Given the description of an element on the screen output the (x, y) to click on. 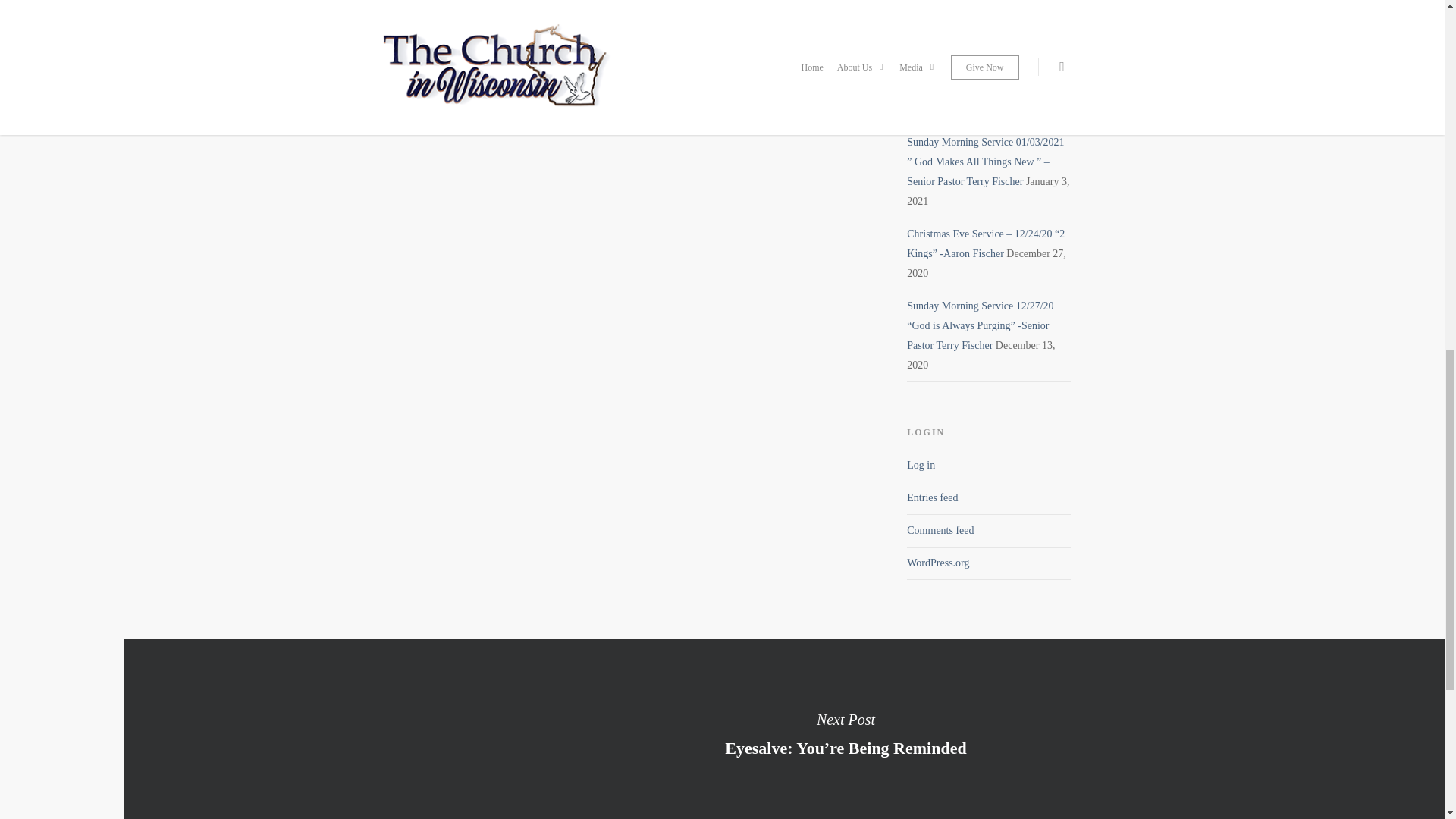
Log in (920, 464)
WordPress.org (938, 562)
Comments feed (940, 530)
Entries feed (932, 497)
